Given the description of an element on the screen output the (x, y) to click on. 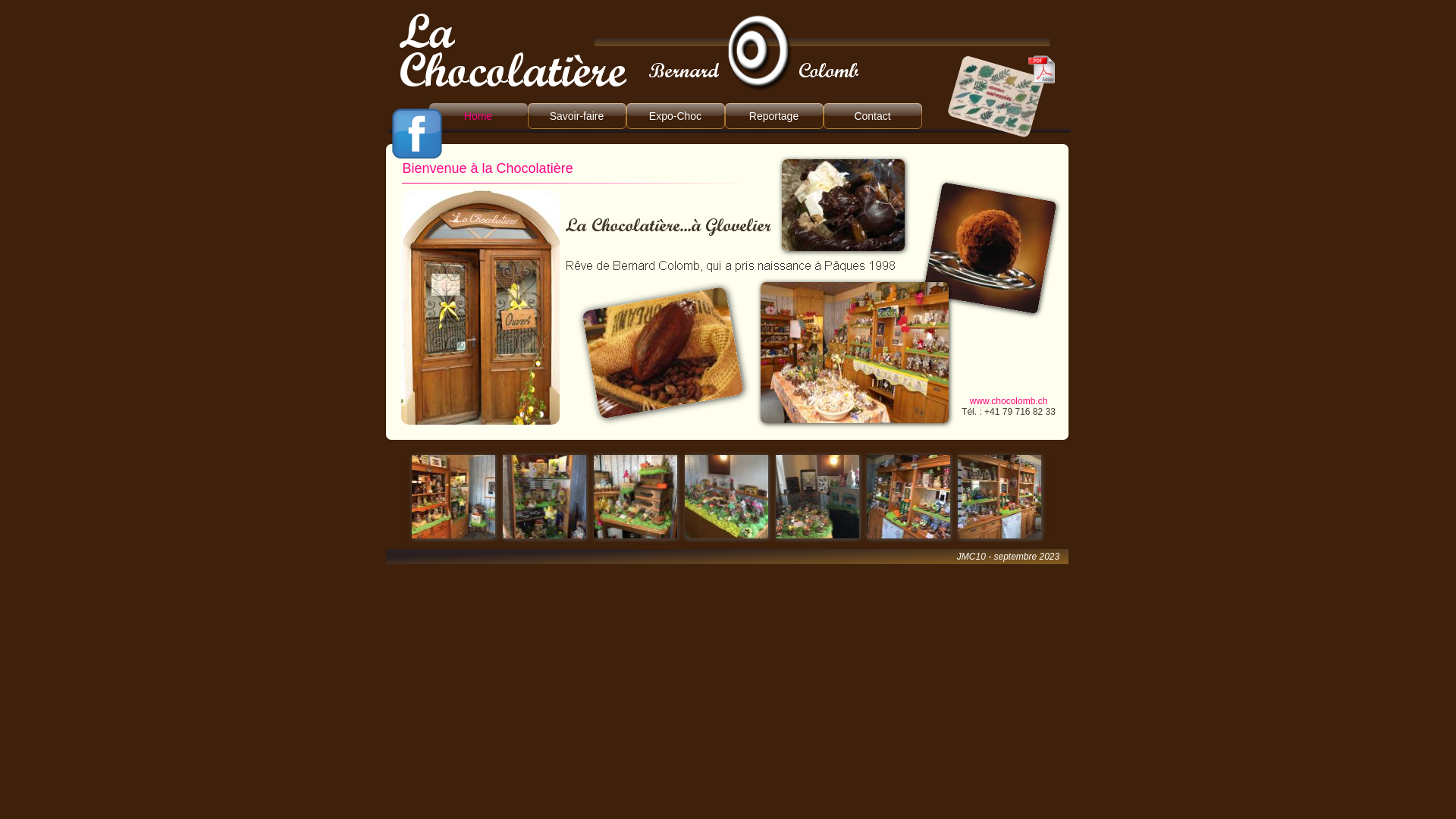
Reportage Element type: text (773, 115)
Expo-Choc Element type: text (675, 115)
Calendrier celtique Element type: hover (1041, 69)
Home Element type: text (478, 115)
  Element type: text (386, 6)
Bienvenue dans ma boutique... Element type: hover (479, 306)
Home Element type: text (478, 115)
Contact Element type: text (871, 115)
Contact Element type: text (872, 115)
Savoir-faire Element type: text (576, 115)
Expo-Choc Element type: text (675, 115)
  Element type: text (386, 555)
Reportage Element type: text (773, 115)
Me suivre sur Facebook Element type: hover (415, 133)
Savoir-faire Element type: text (576, 115)
